Given the description of an element on the screen output the (x, y) to click on. 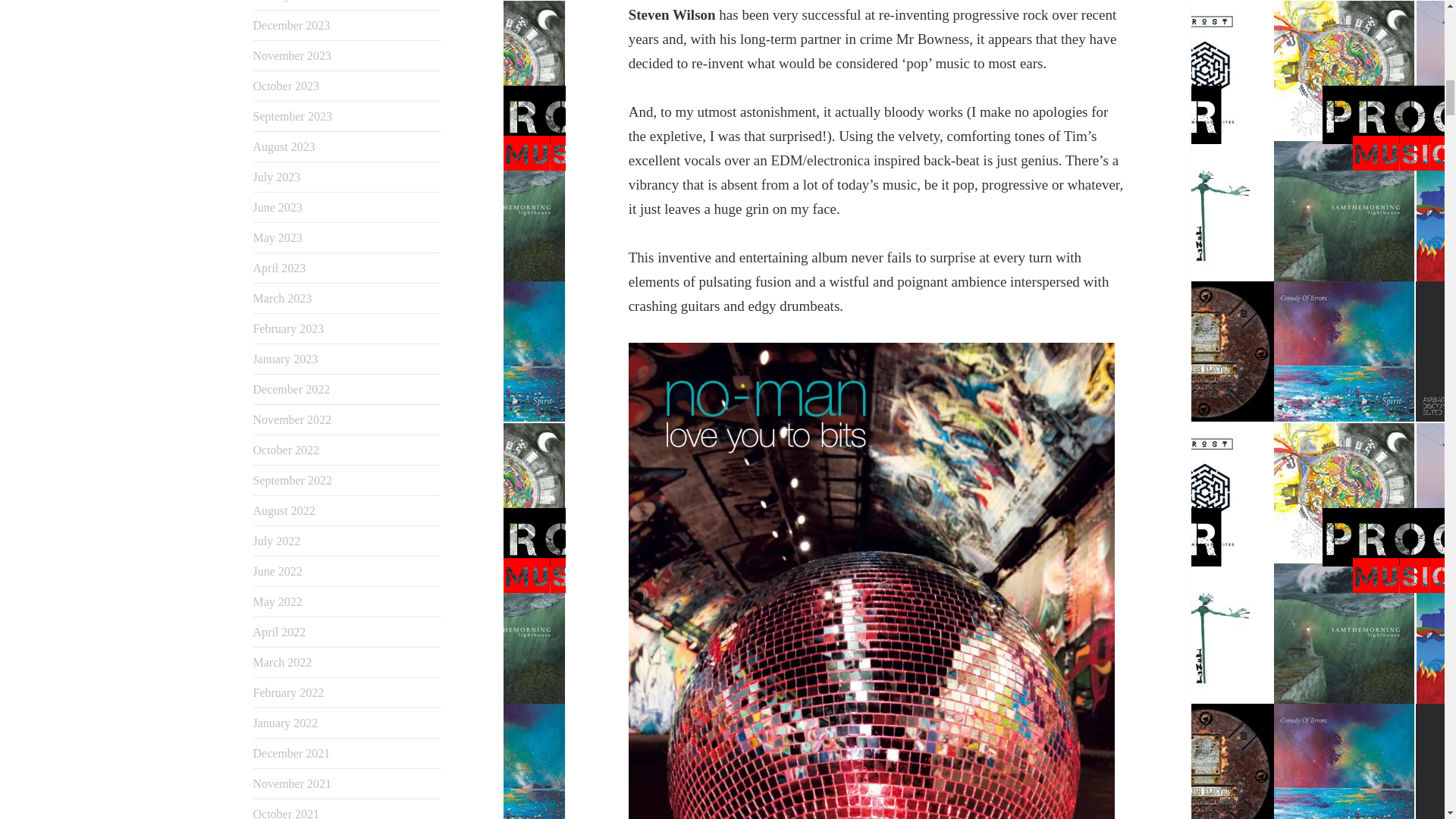
January 2023 (285, 358)
November 2022 (292, 419)
July 2023 (277, 176)
December 2022 (291, 389)
December 2023 (291, 24)
September 2023 (292, 115)
August 2023 (284, 146)
April 2023 (279, 267)
February 2023 (288, 328)
March 2023 (283, 297)
